Given the description of an element on the screen output the (x, y) to click on. 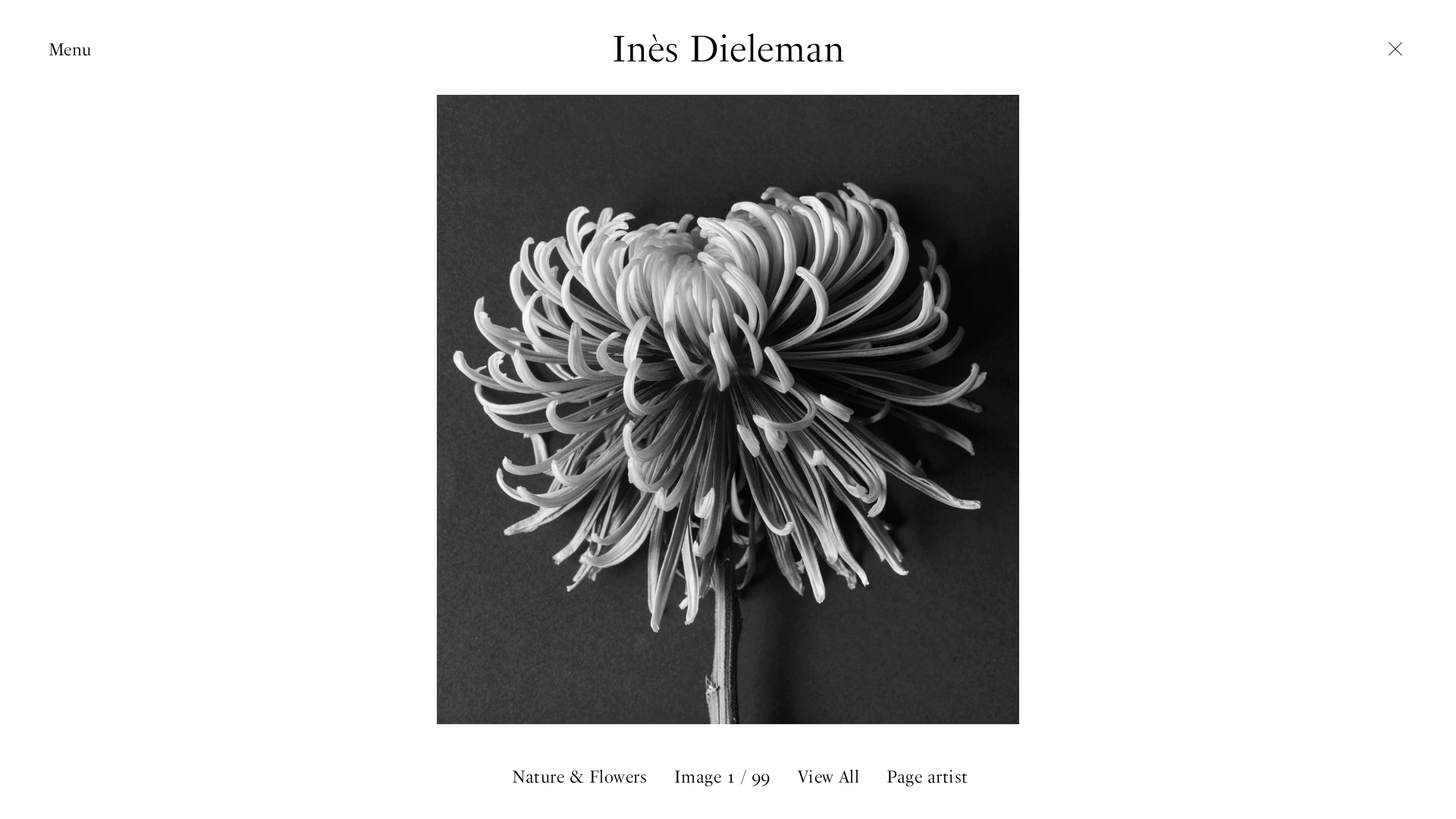
Instagram Element type: text (463, 374)
Page artist Element type: text (926, 776)
Contact Agent Element type: text (976, 397)
View Page Artist Element type: text (727, 313)
Website Element type: text (453, 397)
